Given the description of an element on the screen output the (x, y) to click on. 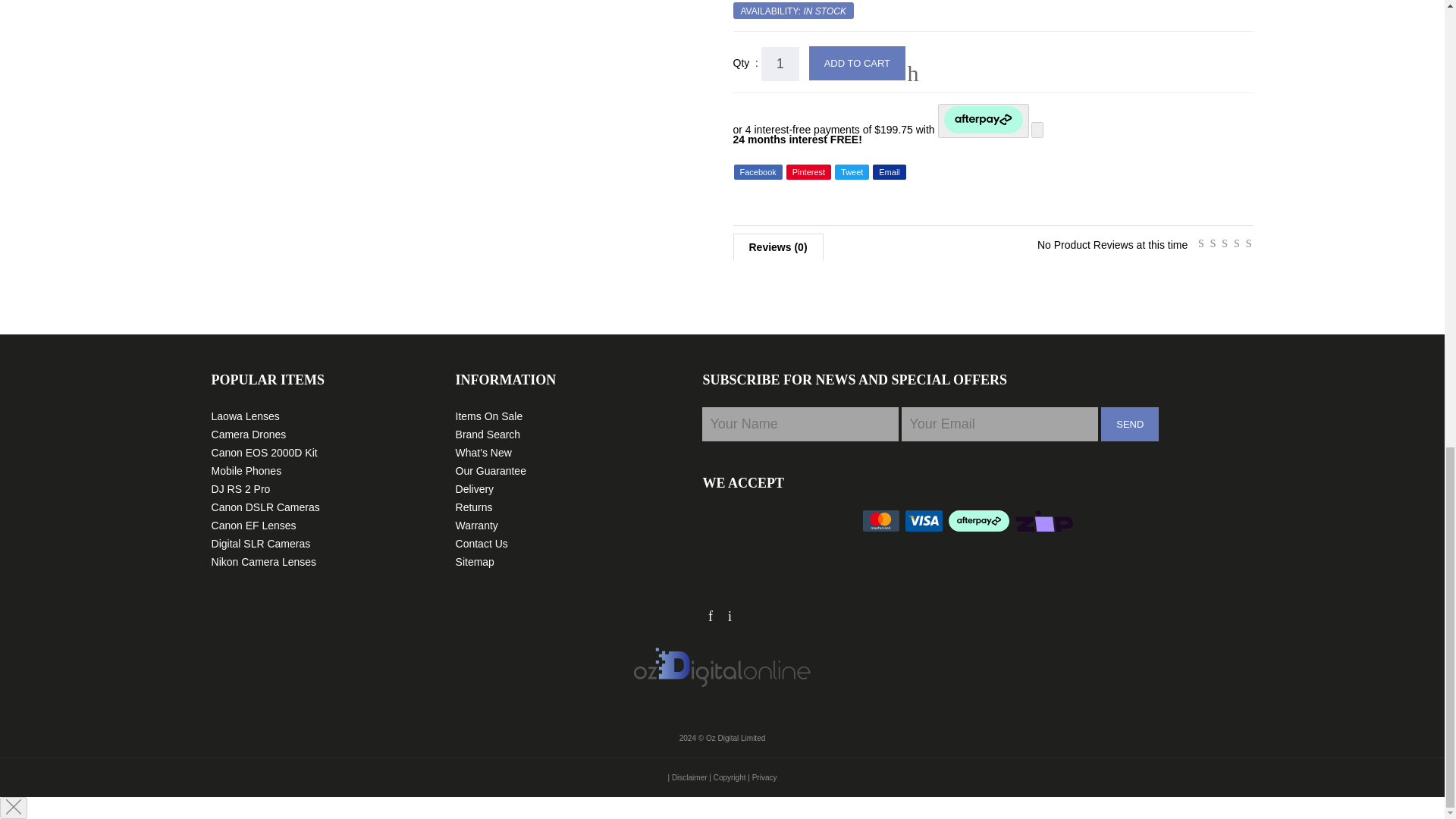
Canon EOS 2000D Kit (264, 452)
Tweet (851, 171)
Email (888, 171)
Laowa Lenses (245, 416)
Add to Cart (857, 62)
Camera Drones (248, 434)
Facebook (758, 171)
1 (780, 63)
Pinterest (808, 171)
